Given the description of an element on the screen output the (x, y) to click on. 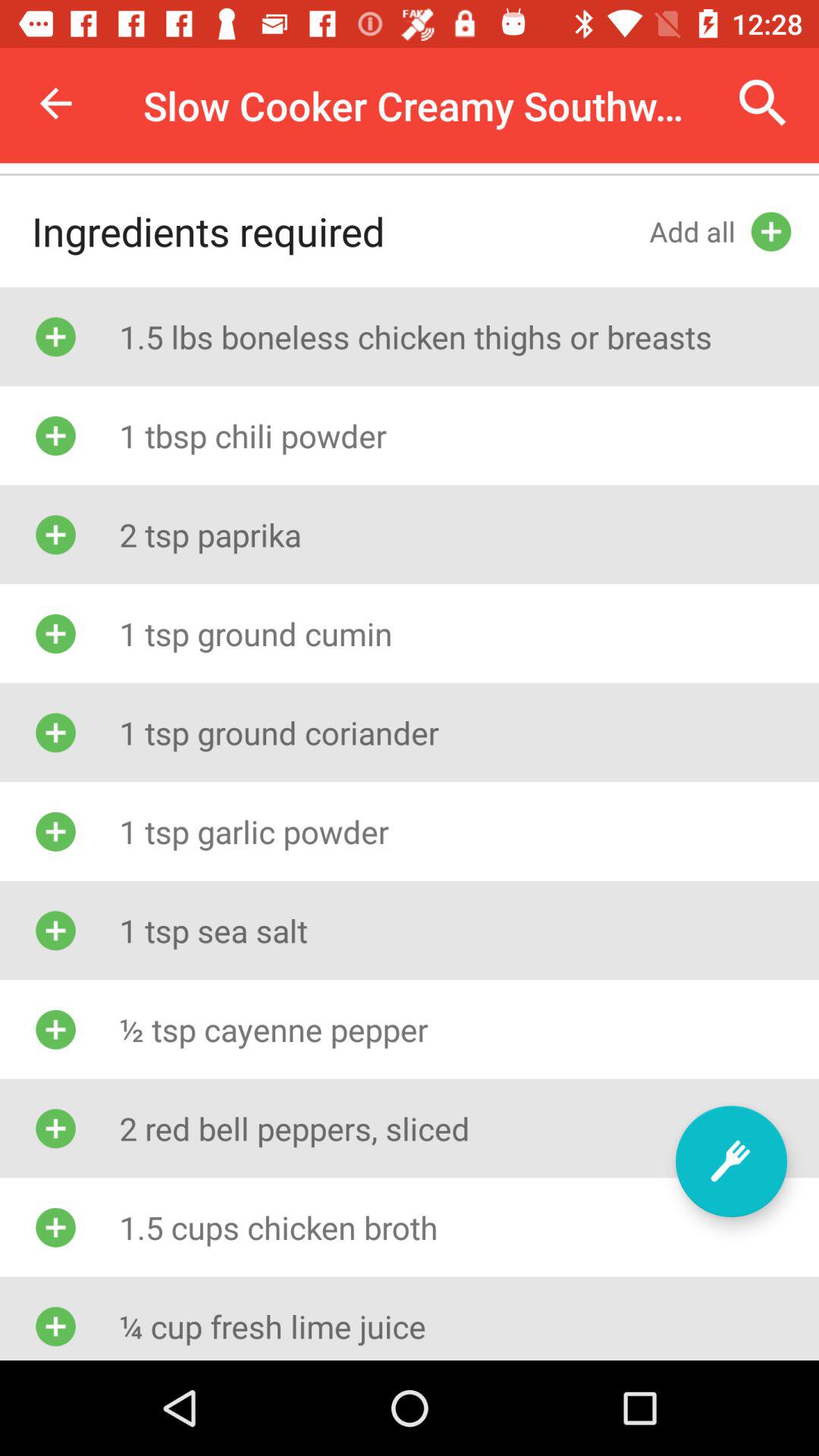
tap icon to the left of the slow cooker creamy icon (55, 103)
